Given the description of an element on the screen output the (x, y) to click on. 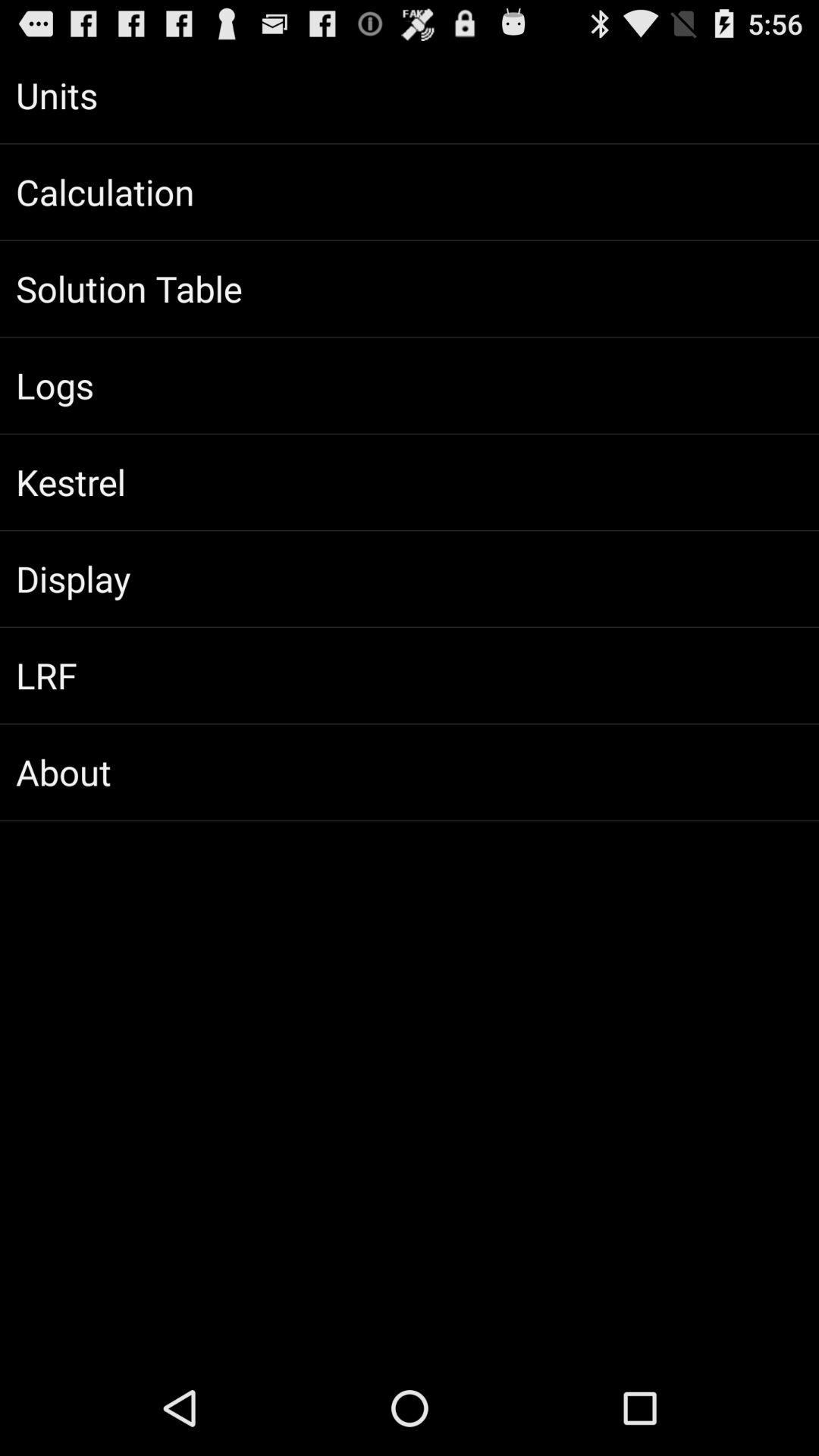
choose the logs icon (409, 385)
